Given the description of an element on the screen output the (x, y) to click on. 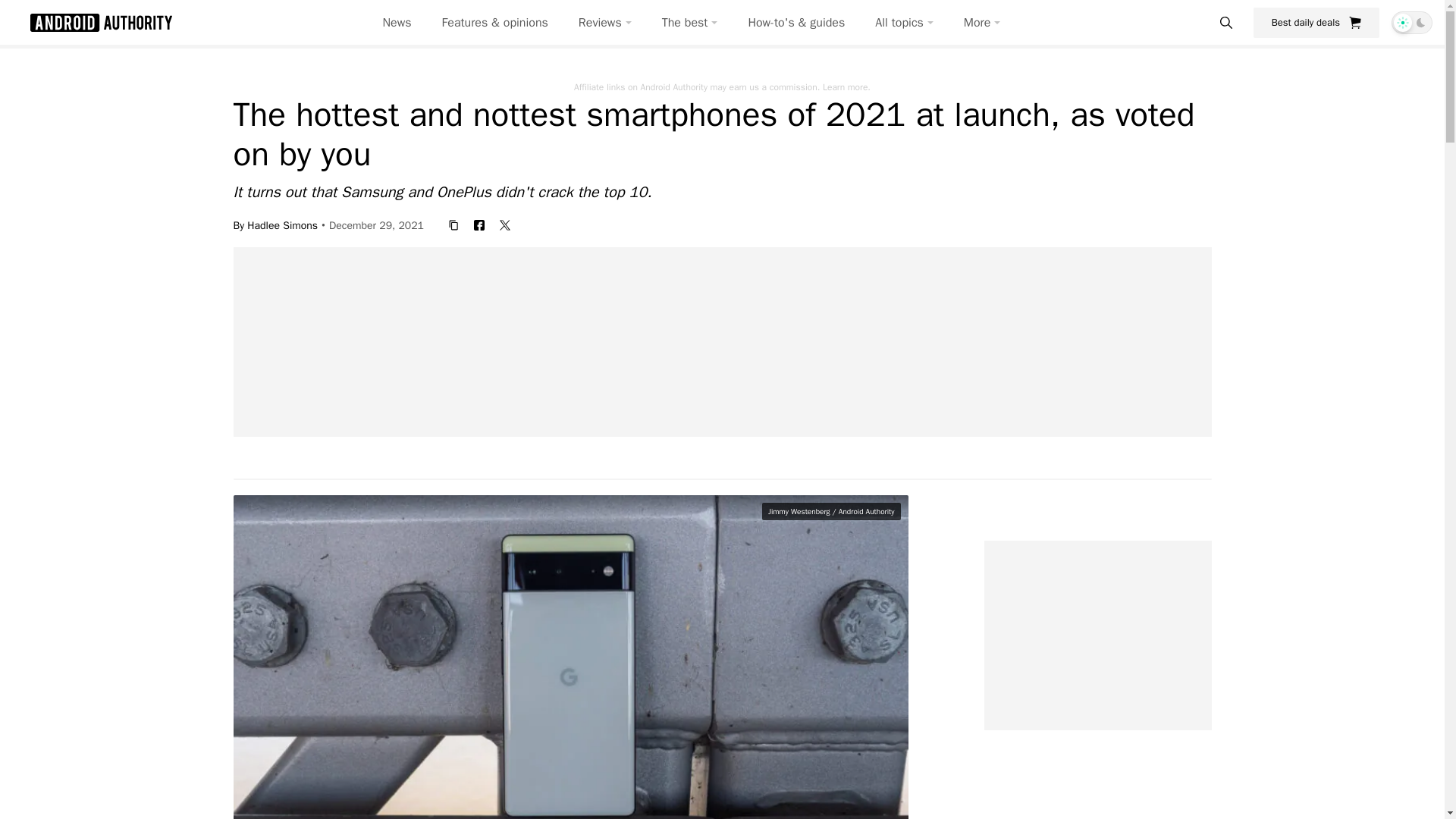
twitter (505, 225)
The best (689, 22)
Hadlee Simons (282, 224)
Best daily deals (1315, 22)
All topics (904, 22)
facebook (478, 225)
Reviews (604, 22)
Learn more. (846, 86)
